Given the description of an element on the screen output the (x, y) to click on. 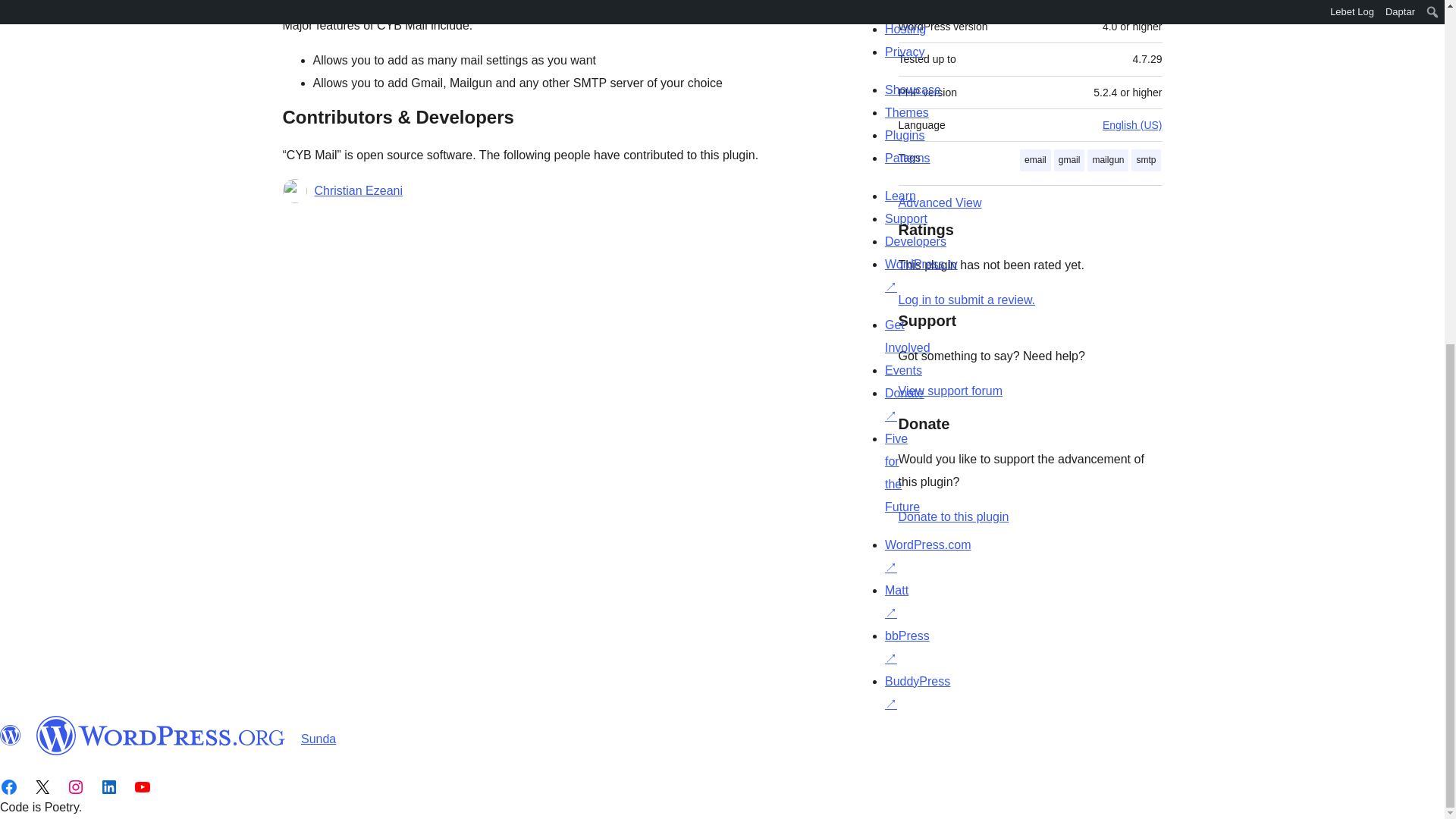
gmail (1069, 160)
Log in to WordPress.org (966, 299)
WordPress.org (10, 735)
email (1035, 160)
WordPress.org (160, 735)
Christian Ezeani (358, 190)
